Given the description of an element on the screen output the (x, y) to click on. 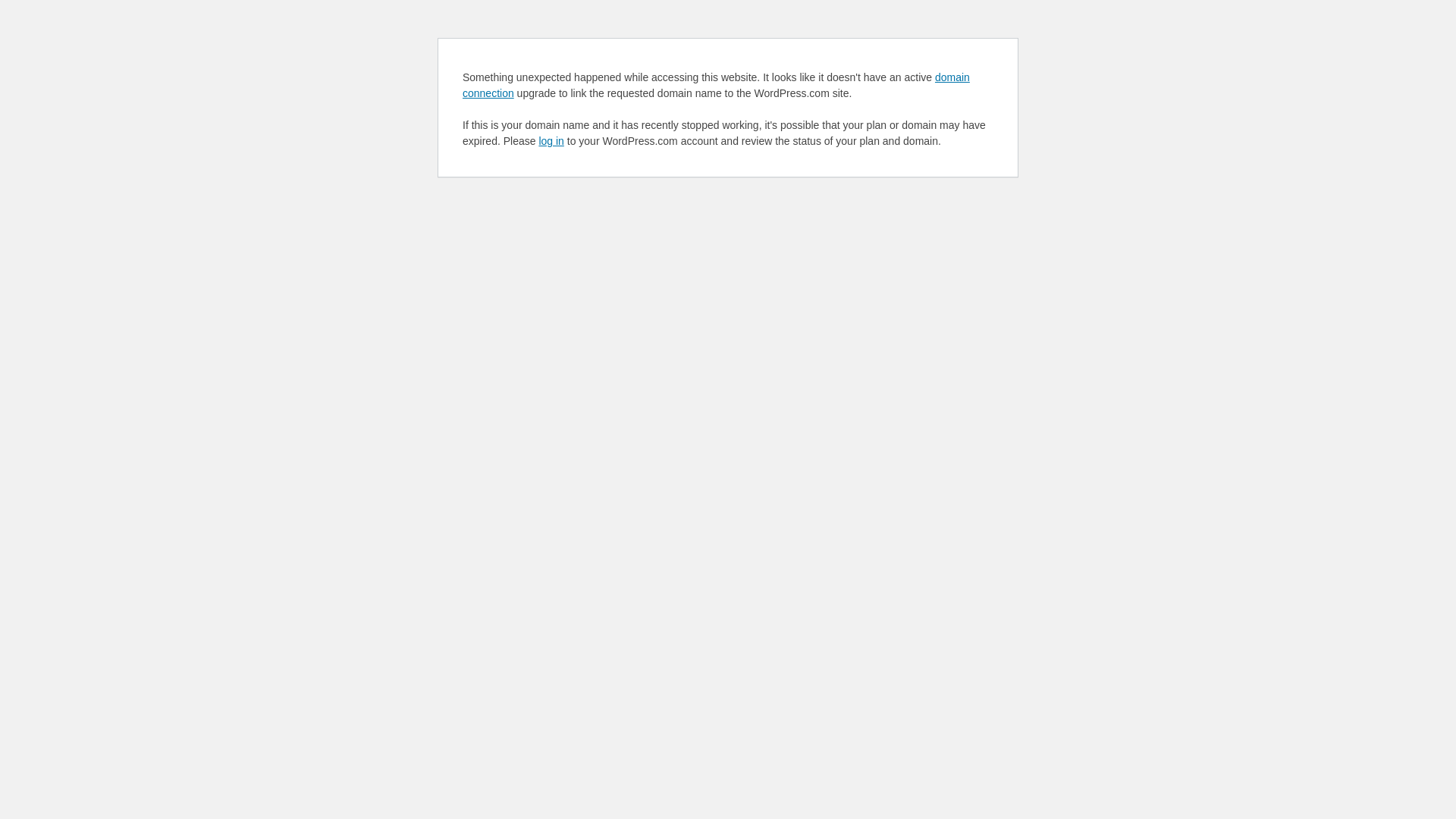
domain connection Element type: text (715, 85)
log in Element type: text (550, 140)
